Given the description of an element on the screen output the (x, y) to click on. 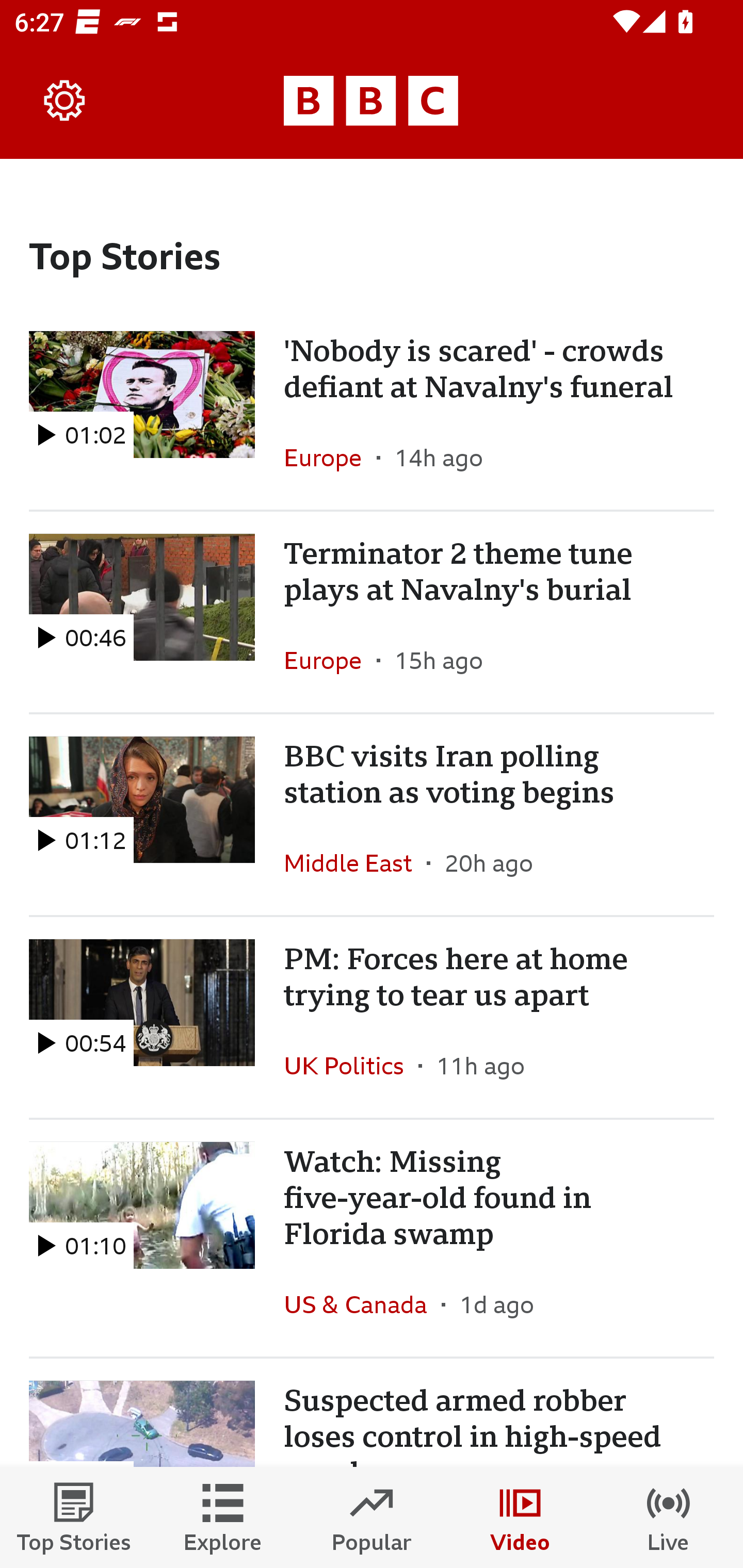
Settings (64, 100)
Europe In the section Europe (329, 457)
Europe In the section Europe (329, 659)
Middle East In the section Middle East (354, 862)
UK Politics In the section UK Politics (350, 1064)
US & Canada In the section US & Canada (362, 1304)
Top Stories (74, 1517)
Explore (222, 1517)
Popular (371, 1517)
Live (668, 1517)
